Given the description of an element on the screen output the (x, y) to click on. 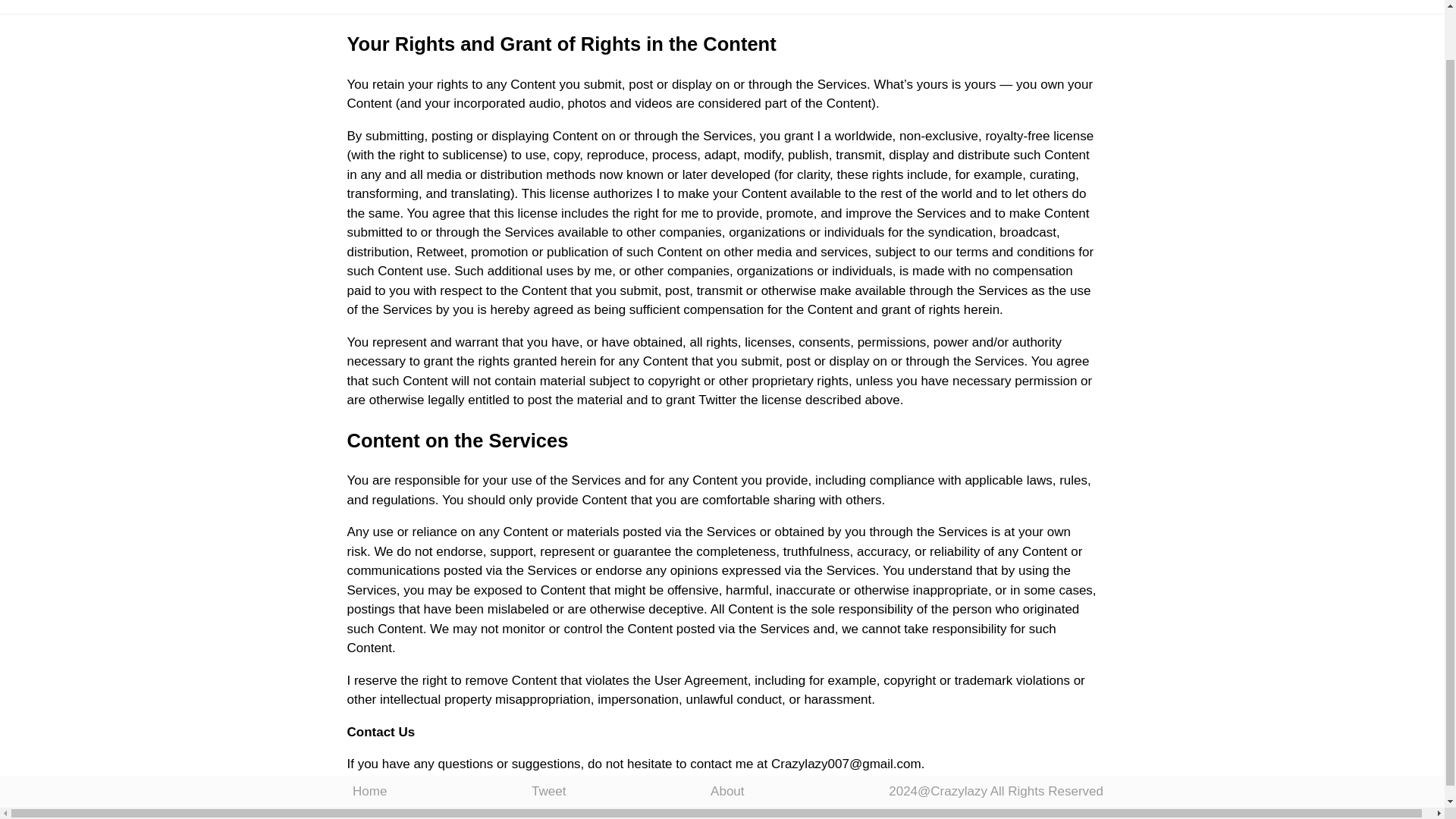
About (727, 736)
Tweet (548, 736)
Home (369, 736)
